Given the description of an element on the screen output the (x, y) to click on. 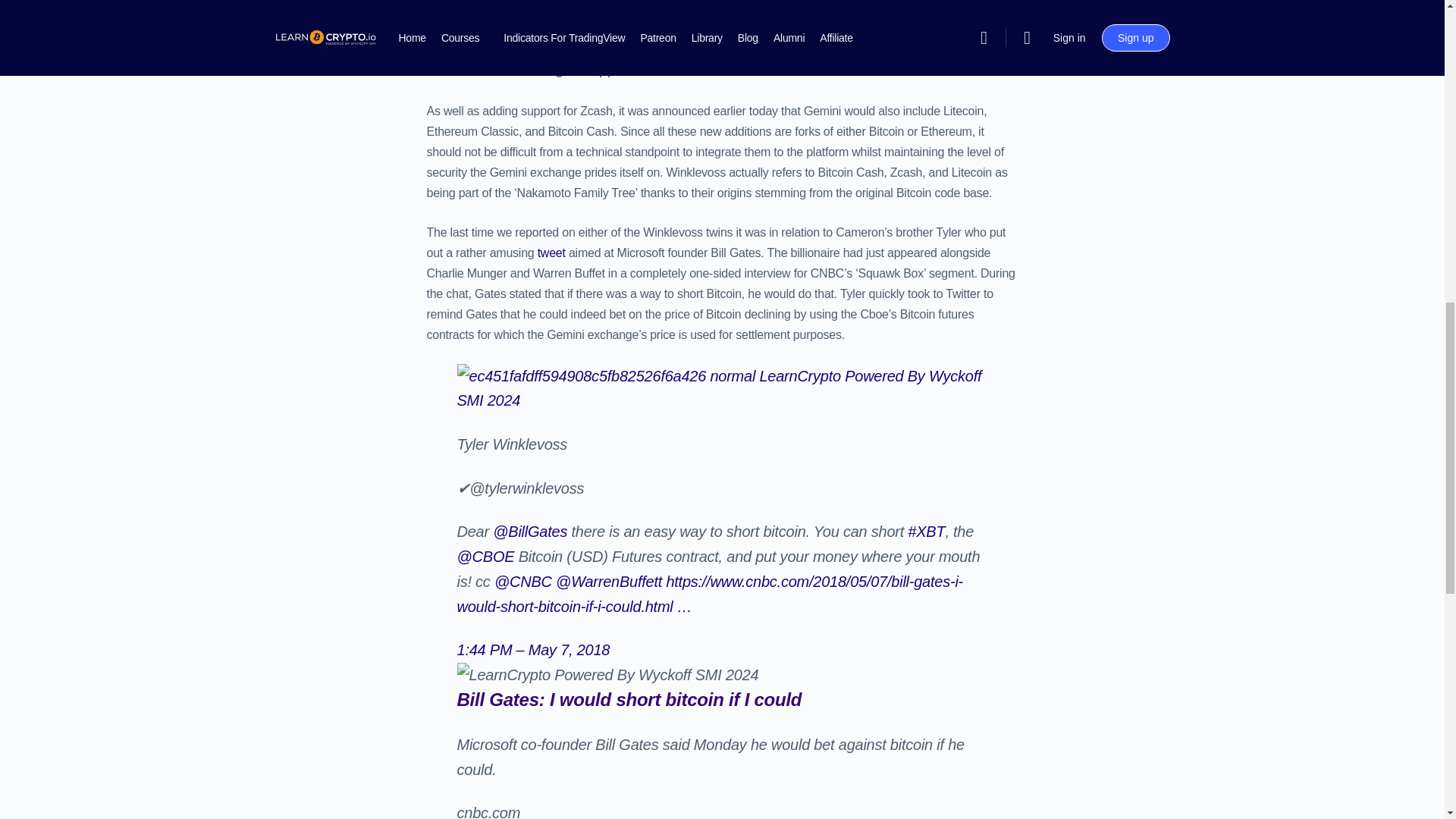
Tyler Winklevoss (512, 443)
